Given the description of an element on the screen output the (x, y) to click on. 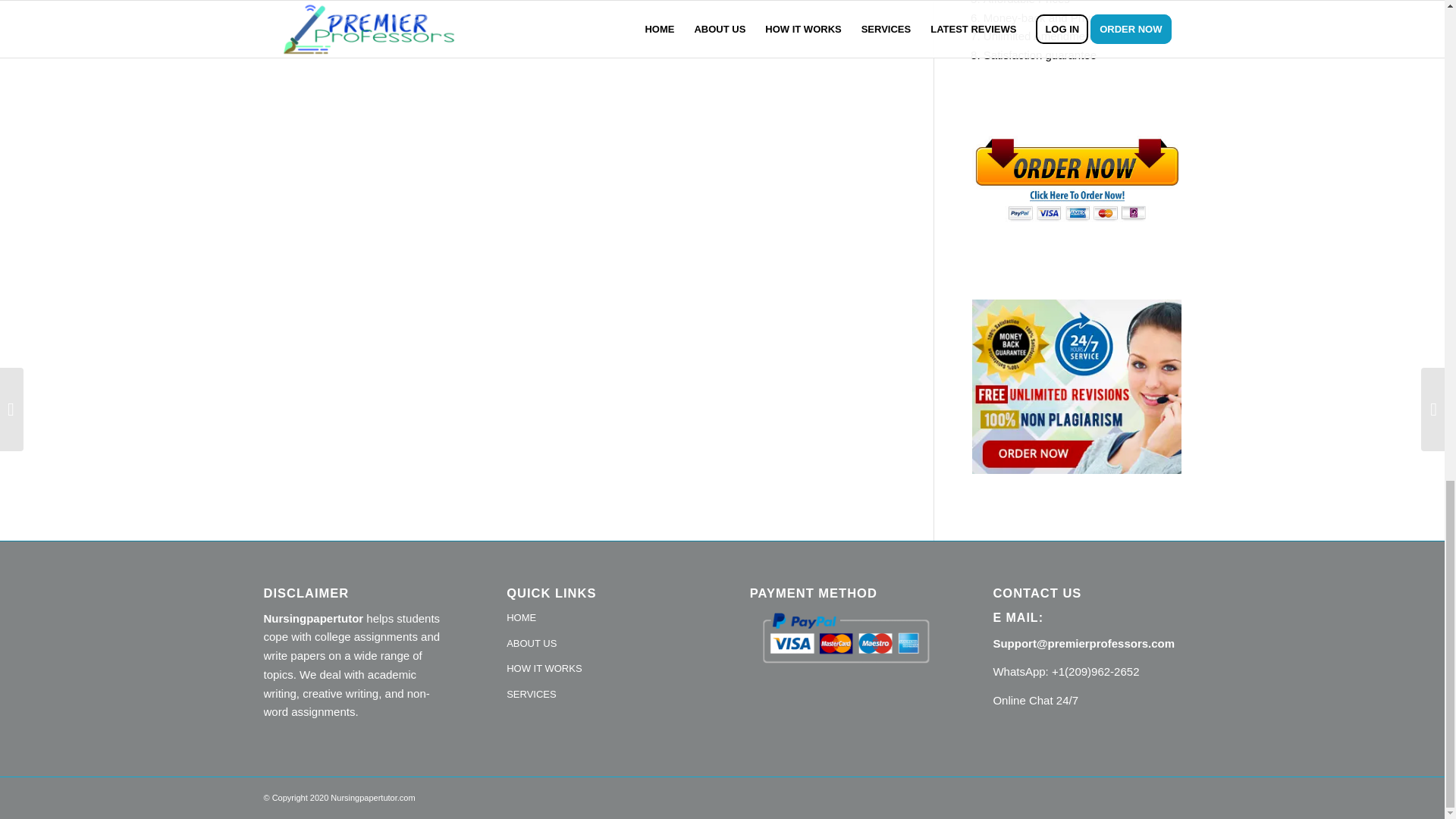
HOME (600, 618)
HOW IT WORKS (600, 669)
SERVICES (600, 695)
ABOUT US (600, 644)
